Given the description of an element on the screen output the (x, y) to click on. 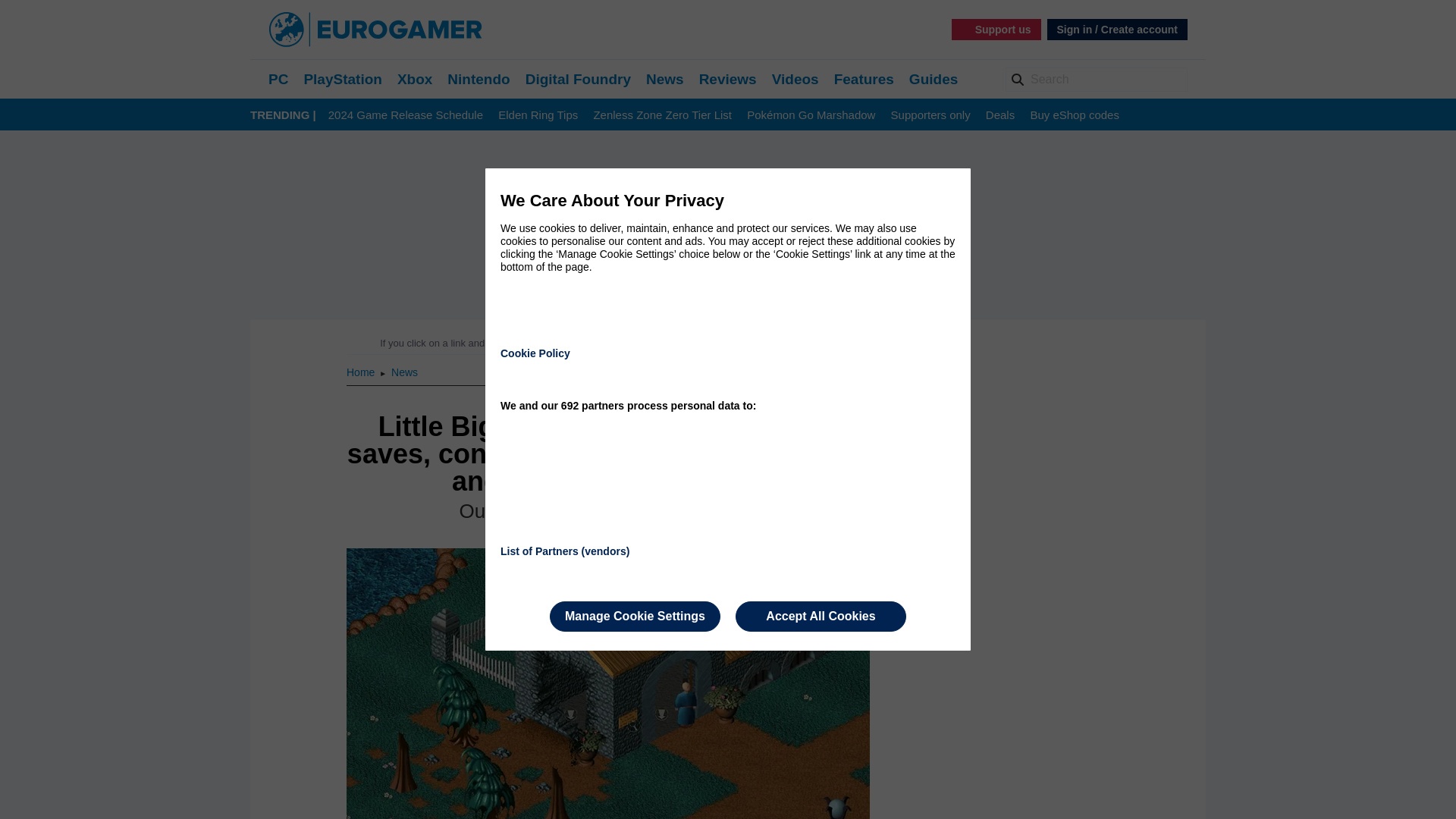
Home (361, 372)
Elden Ring Tips (537, 114)
Deals (999, 114)
Nintendo (477, 78)
Supporters only (931, 114)
Videos (794, 78)
News (404, 372)
Nintendo (477, 78)
Supporters only (931, 114)
Digital Foundry (577, 78)
Xbox (414, 78)
Zenless Zone Zero Tier List (662, 114)
News (404, 372)
Guides (933, 78)
Features (863, 78)
